Given the description of an element on the screen output the (x, y) to click on. 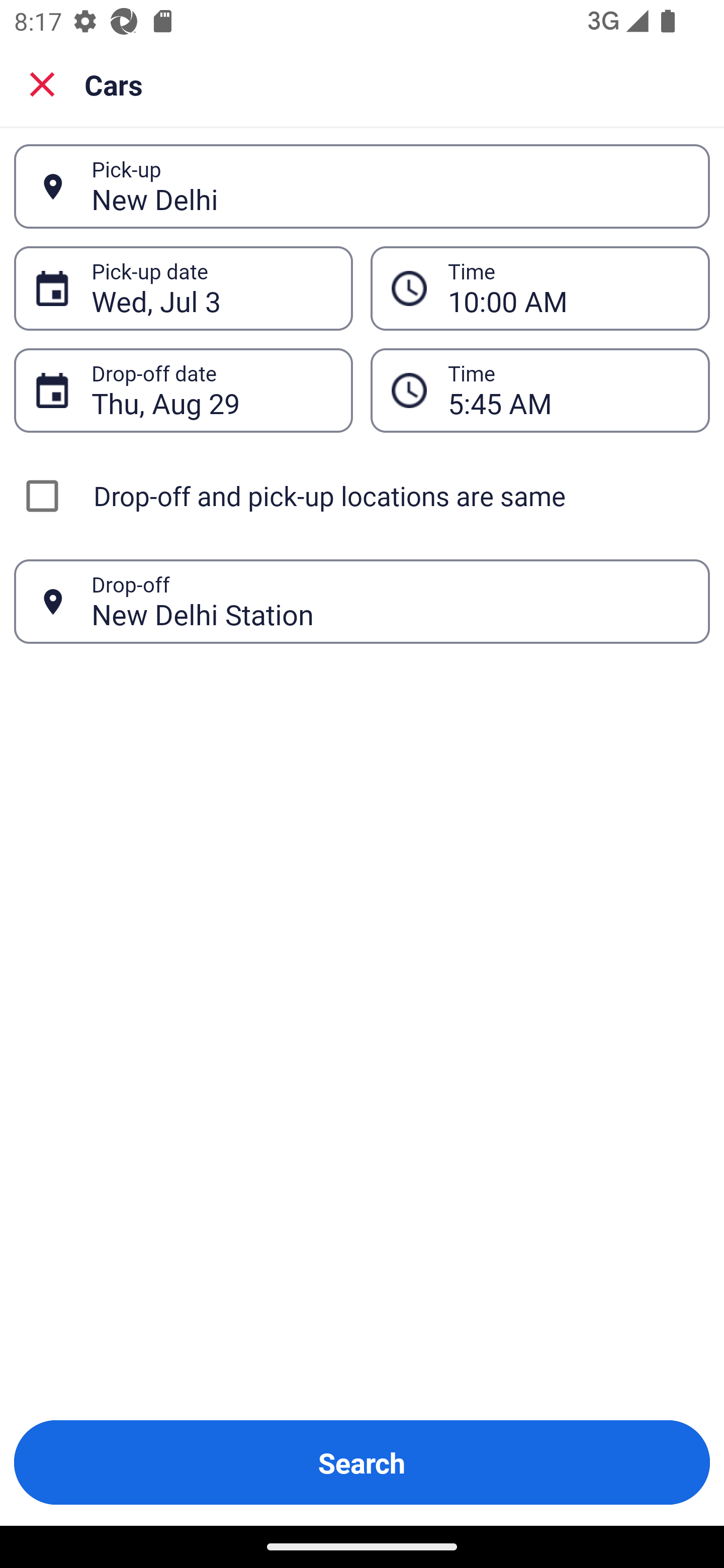
Close search screen (41, 83)
New Delhi Pick-up (361, 186)
New Delhi (389, 186)
Wed, Jul 3 Pick-up date (183, 288)
10:00 AM (540, 288)
Wed, Jul 3 (211, 288)
10:00 AM (568, 288)
Thu, Aug 29 Drop-off date (183, 390)
5:45 AM (540, 390)
Thu, Aug 29 (211, 390)
5:45 AM (568, 390)
Drop-off and pick-up locations are same (361, 495)
New Delhi Station Drop-off (361, 601)
New Delhi Station (389, 601)
Search Button Search (361, 1462)
